Given the description of an element on the screen output the (x, y) to click on. 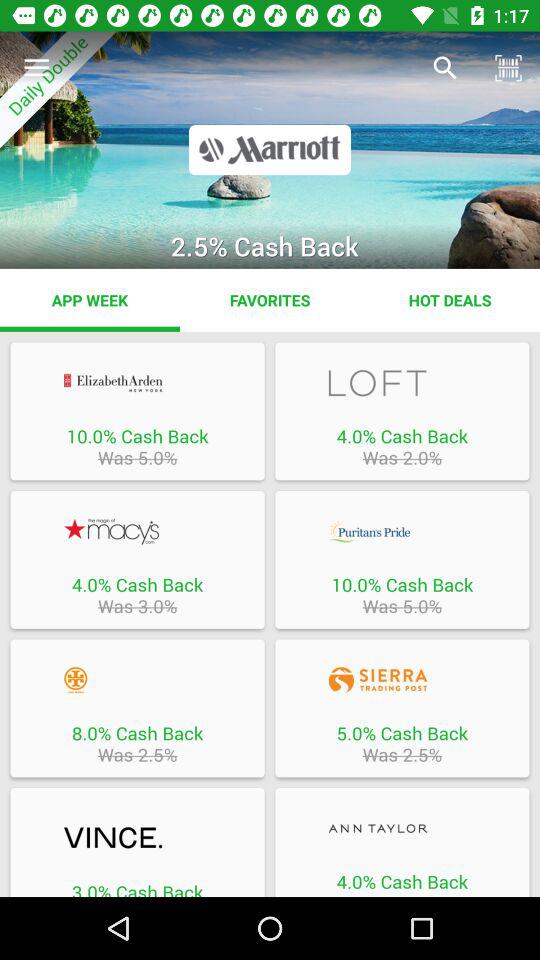
turn off the hot deals item (450, 299)
